Given the description of an element on the screen output the (x, y) to click on. 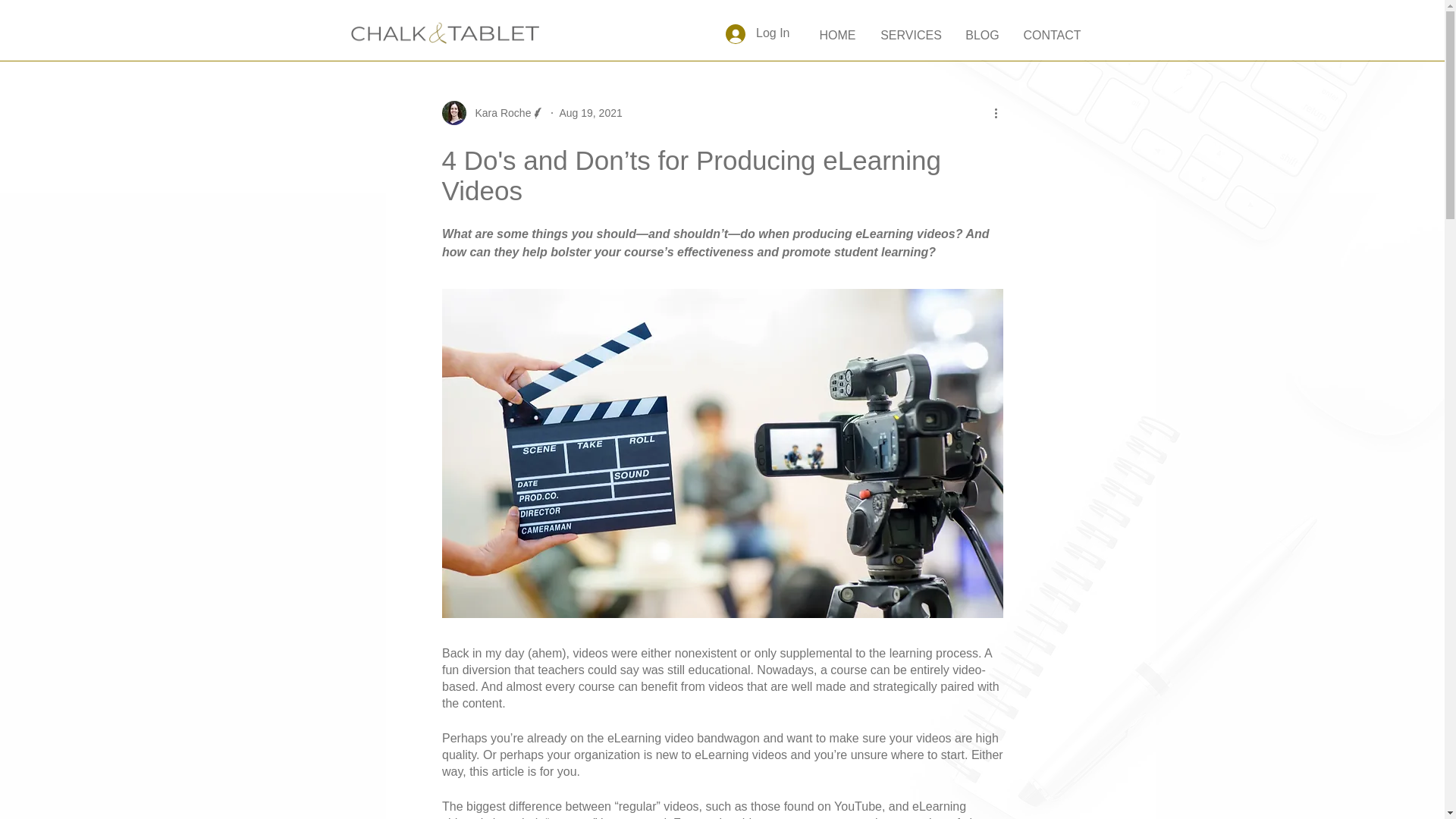
HOME (837, 40)
Aug 19, 2021 (590, 111)
SERVICES (911, 40)
Log In (756, 33)
Kara Roche (492, 112)
BLOG (982, 40)
CONTACT (1052, 40)
Kara Roche (498, 112)
